Given the description of an element on the screen output the (x, y) to click on. 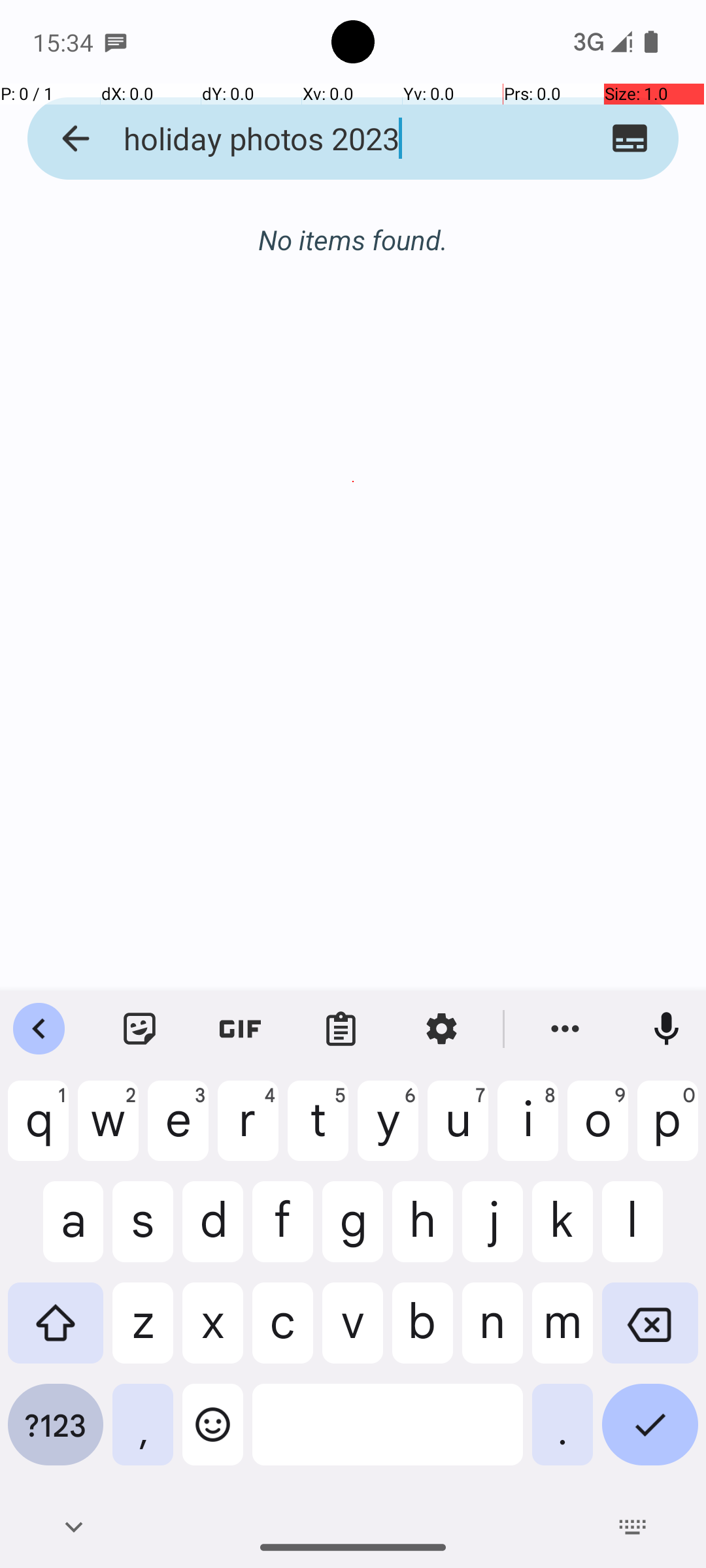
No items found. Element type: android.widget.TextView (353, 225)
holiday photos 2023 Element type: android.widget.EditText (328, 138)
Toggle filename visibility Element type: android.widget.Button (629, 138)
